Given the description of an element on the screen output the (x, y) to click on. 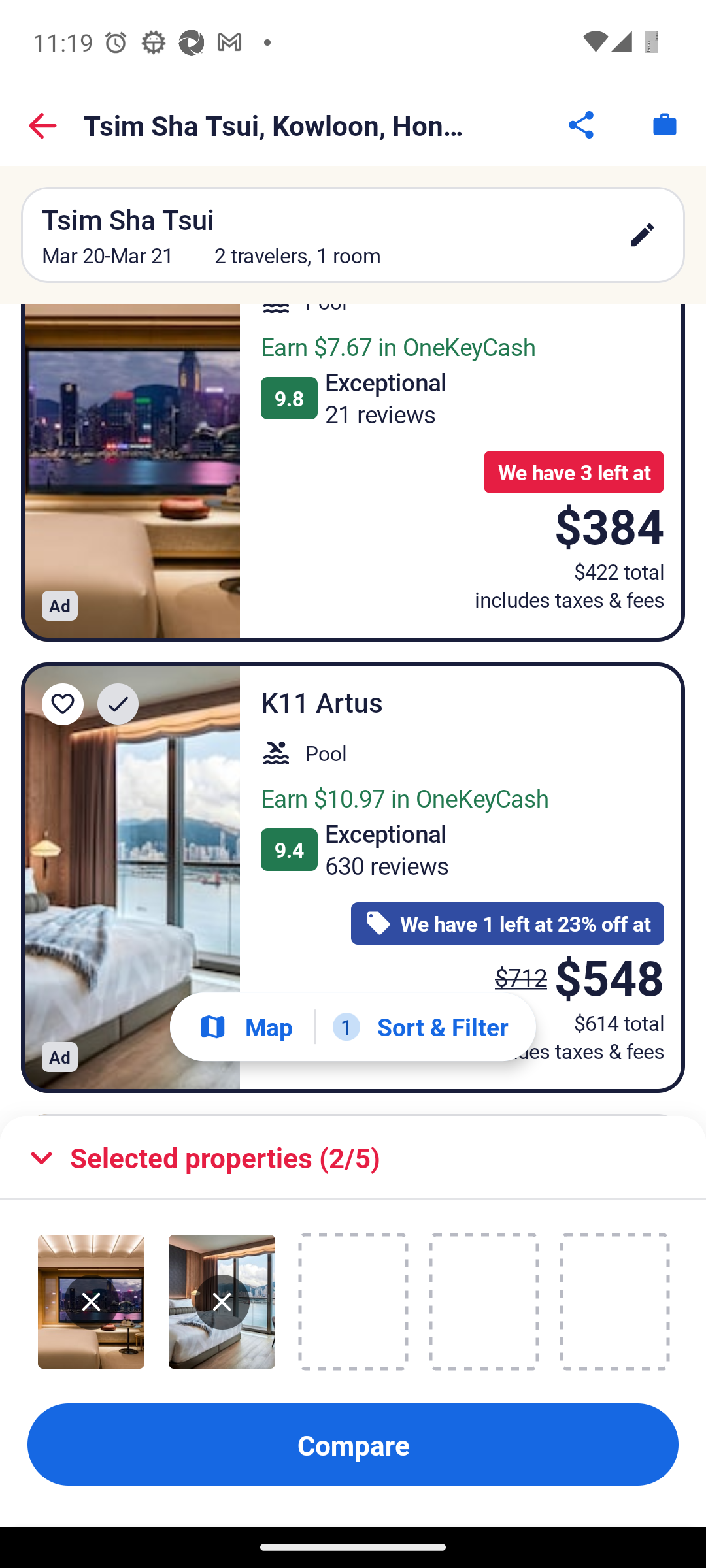
Share Button (582, 124)
Trips. Button (664, 124)
Regent Hong Kong (130, 472)
K11 Artus (130, 876)
Save K11 Artus to a trip (62, 703)
$712 The price was $712 (520, 977)
1 Sort & Filter 1 Filter applied. Filters Button (420, 1026)
Show map Map Show map Button (244, 1025)
Unselect Regent Hong Kong (91, 1301)
Unselect K11 Artus (221, 1301)
Compare Properties Compare (352, 1444)
